Given the description of an element on the screen output the (x, y) to click on. 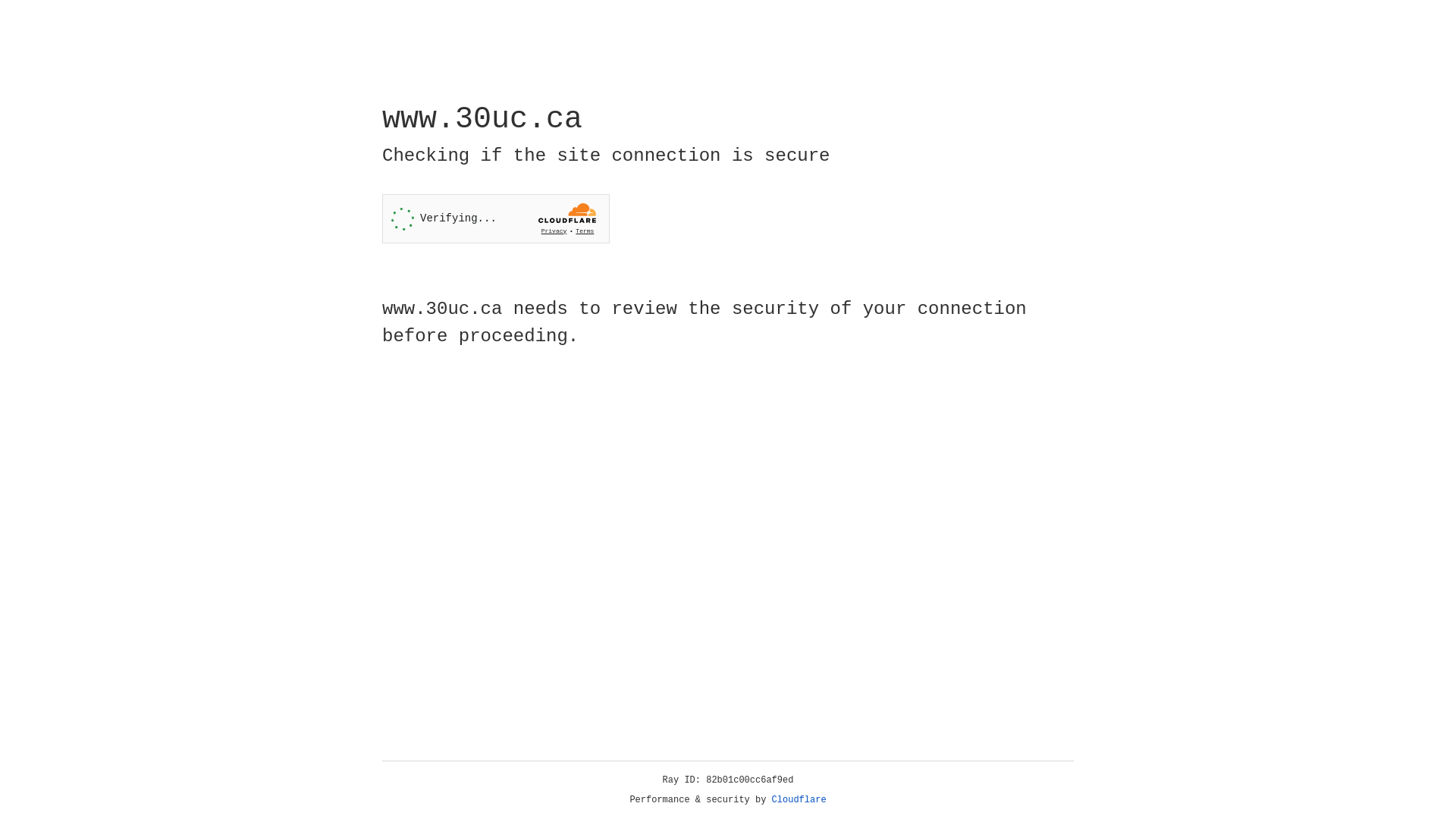
Widget containing a Cloudflare security challenge Element type: hover (495, 218)
Cloudflare Element type: text (798, 799)
